Given the description of an element on the screen output the (x, y) to click on. 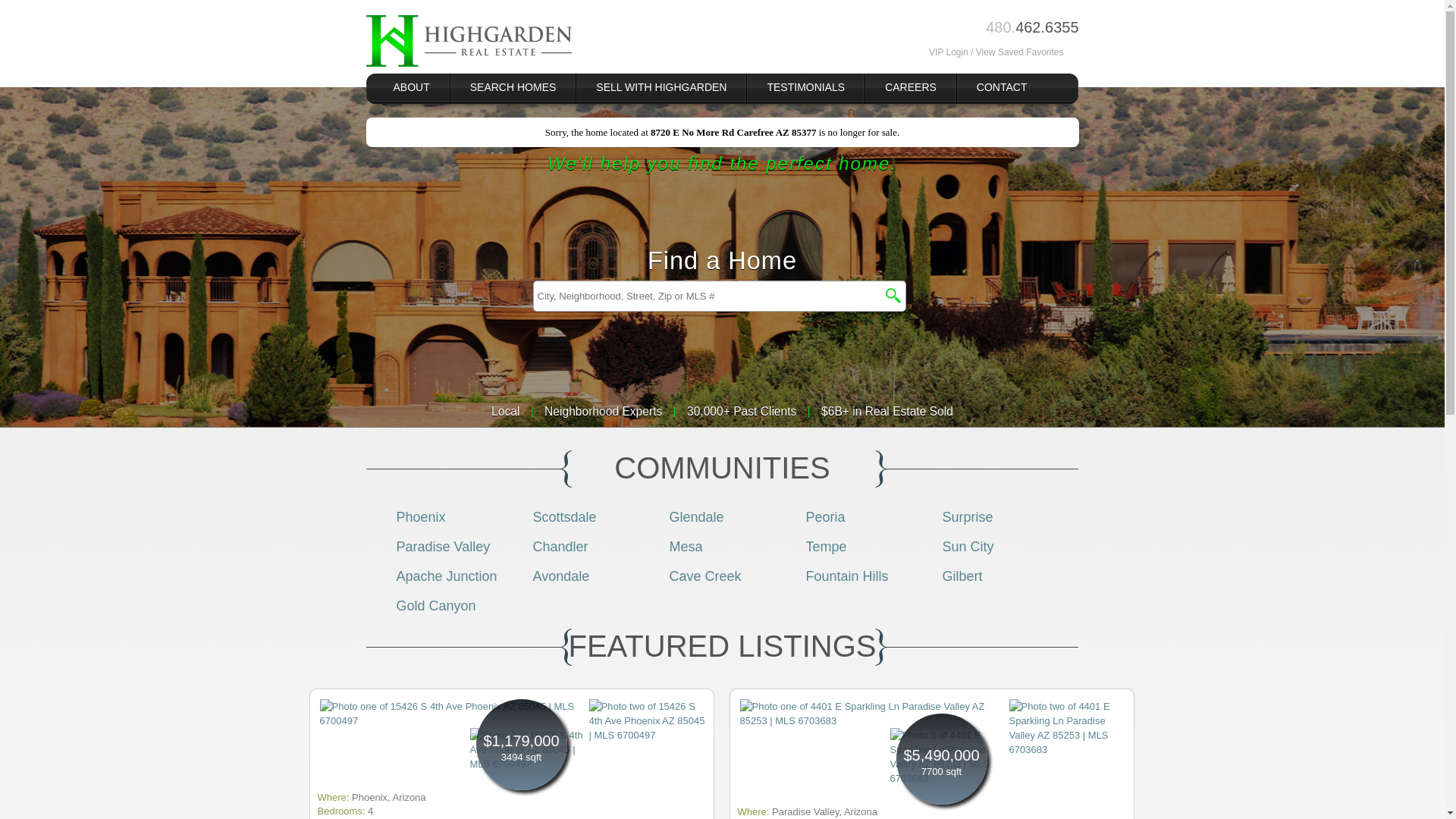
Search Homes (512, 87)
View Mesa, AZ homes for sale. (684, 546)
Paradise Valley (442, 546)
View Peoria, AZ homes for sale. (824, 516)
Highgarden Real Estate Phoenix (467, 40)
Tempe (825, 546)
Glendale (695, 516)
Gold Canyon (436, 605)
Cave Creek (704, 575)
View Scottsdale, AZ homes for sale. (563, 516)
Gilbert (961, 575)
View Tempe, AZ homes for sale. (825, 546)
View Paradise Valley, AZ homes for sale. (442, 546)
View Chandler, AZ homes for sale. (560, 546)
Chandler (560, 546)
